Given the description of an element on the screen output the (x, y) to click on. 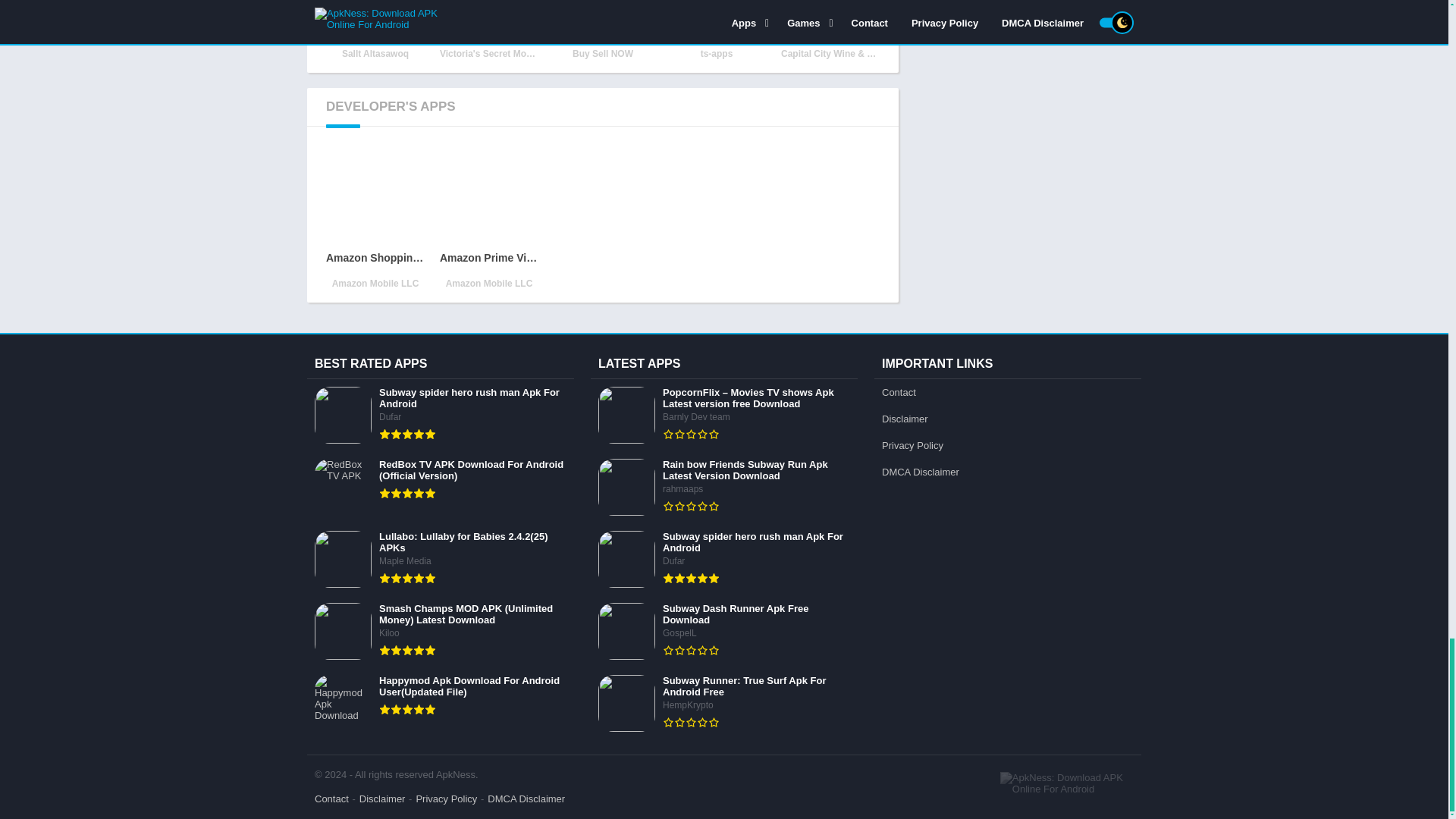
AppsFree APK Download Latest Version (715, 30)
Amazon Prime Video Apk Download For Android (488, 218)
Hoobly Classifieds for Pets Apk Latest Version Free Download (602, 30)
Sallt Apk For Android Free Download (375, 30)
